Given the description of an element on the screen output the (x, y) to click on. 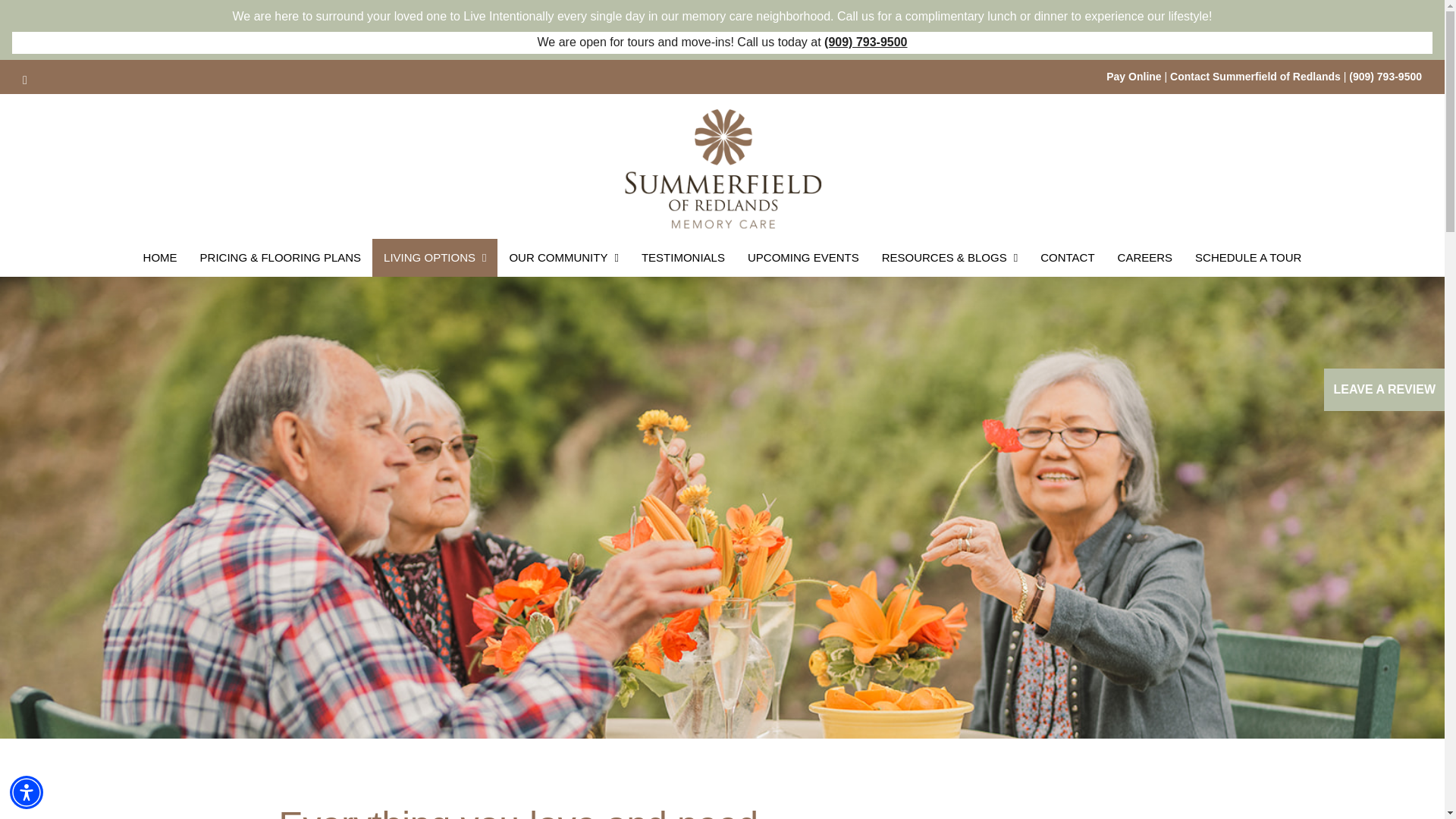
OUR COMMUNITY (562, 257)
Contact Summerfield of Redlands (1255, 76)
Pay Online (1133, 76)
CAREERS (1145, 257)
LIVING OPTIONS (434, 257)
CONTACT (1067, 257)
Accessibility Menu (26, 792)
SCHEDULE A TOUR (1248, 257)
UPCOMING EVENTS (803, 257)
TESTIMONIALS (683, 257)
